Given the description of an element on the screen output the (x, y) to click on. 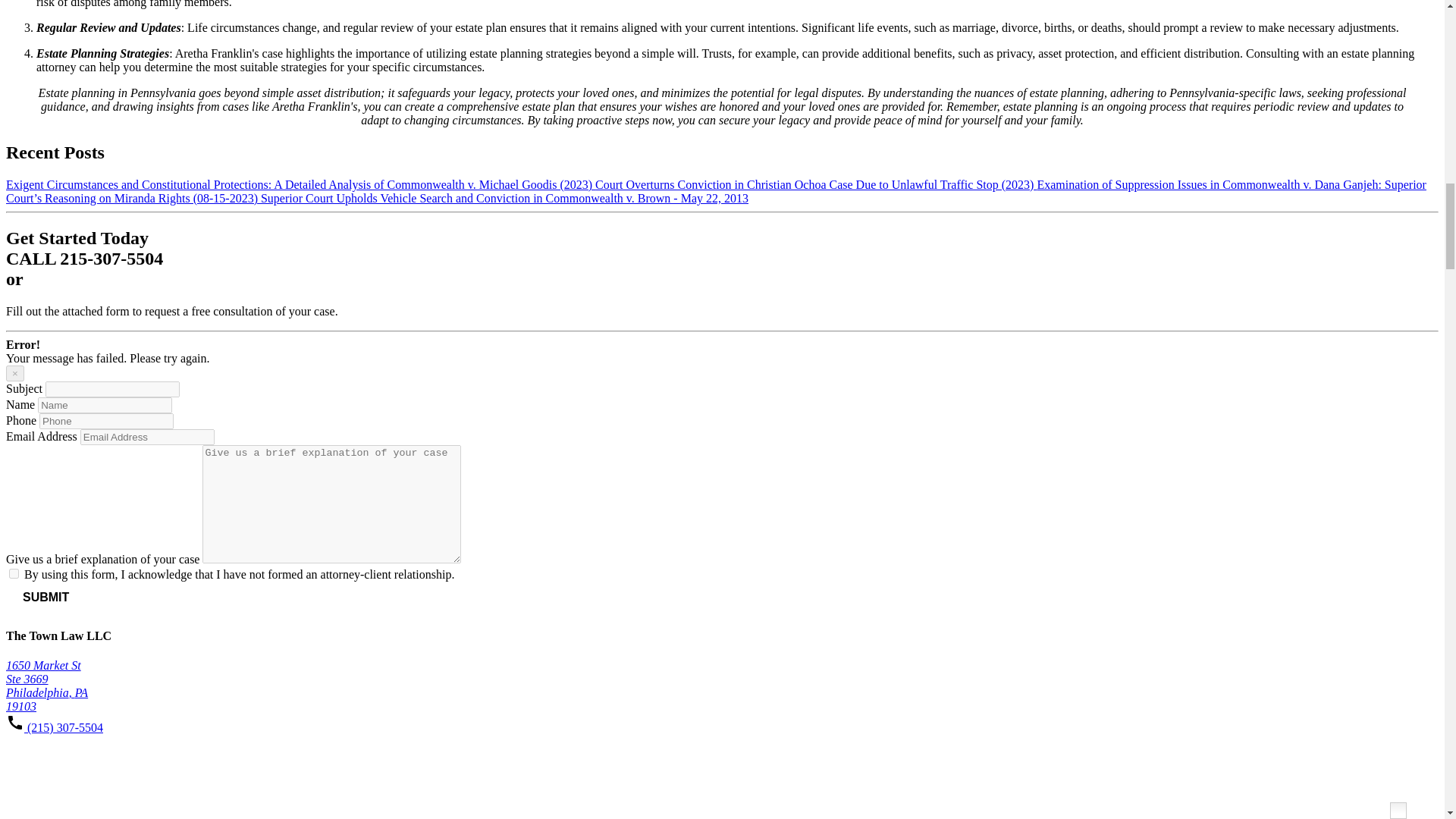
on (13, 573)
